Given the description of an element on the screen output the (x, y) to click on. 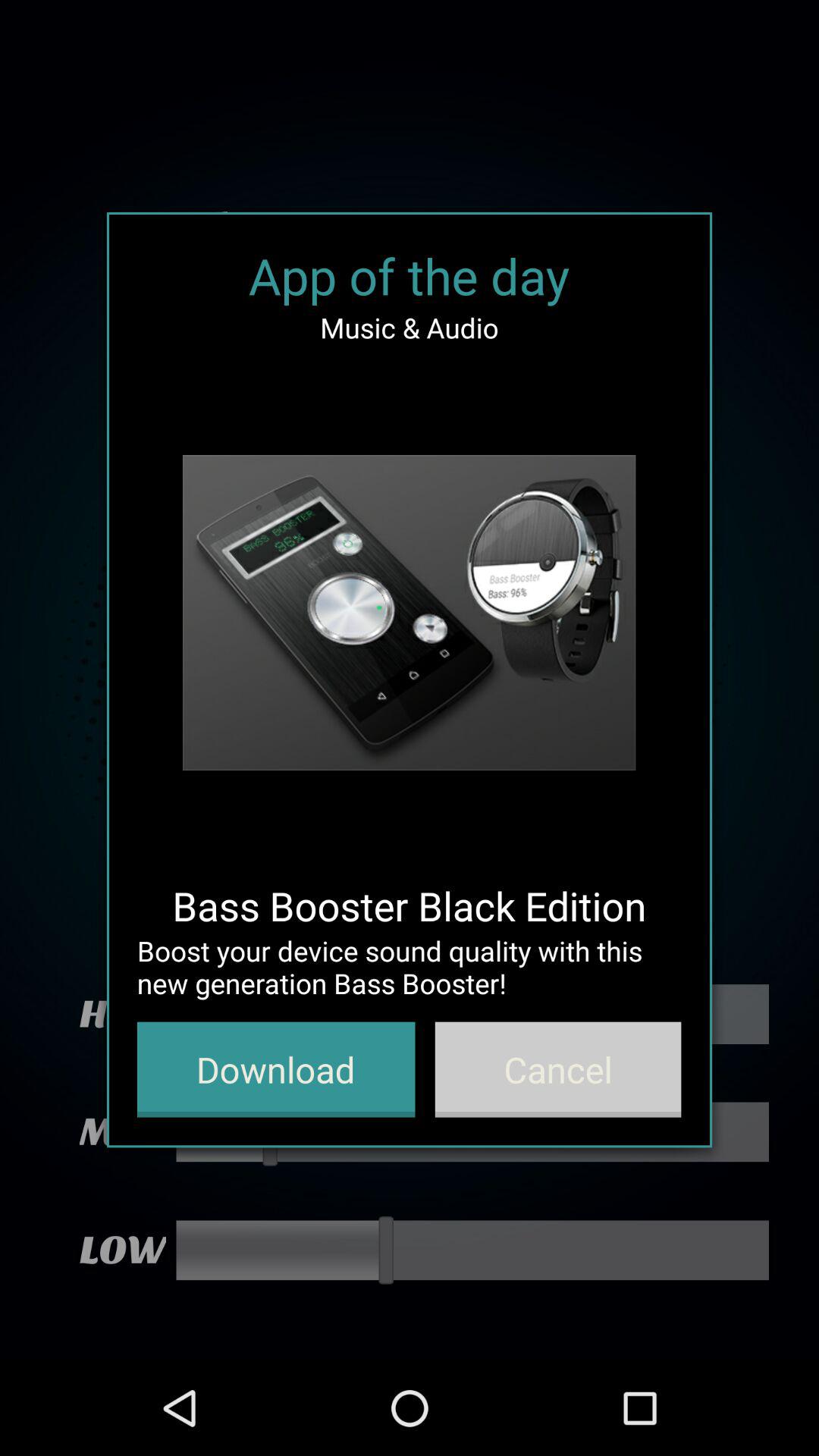
select button to the left of the cancel button (276, 1069)
